Given the description of an element on the screen output the (x, y) to click on. 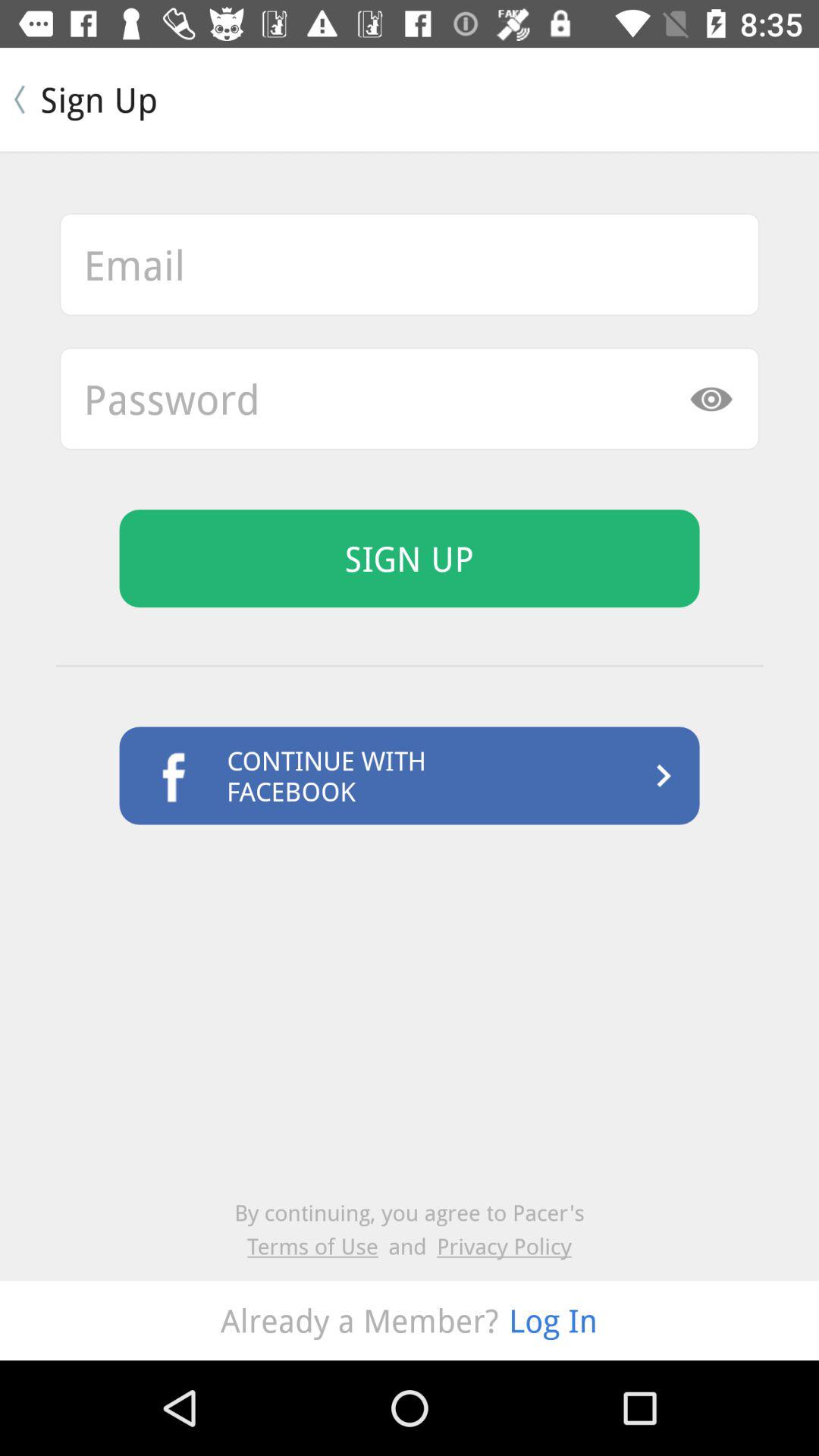
open item above the already a member? icon (503, 1245)
